Given the description of an element on the screen output the (x, y) to click on. 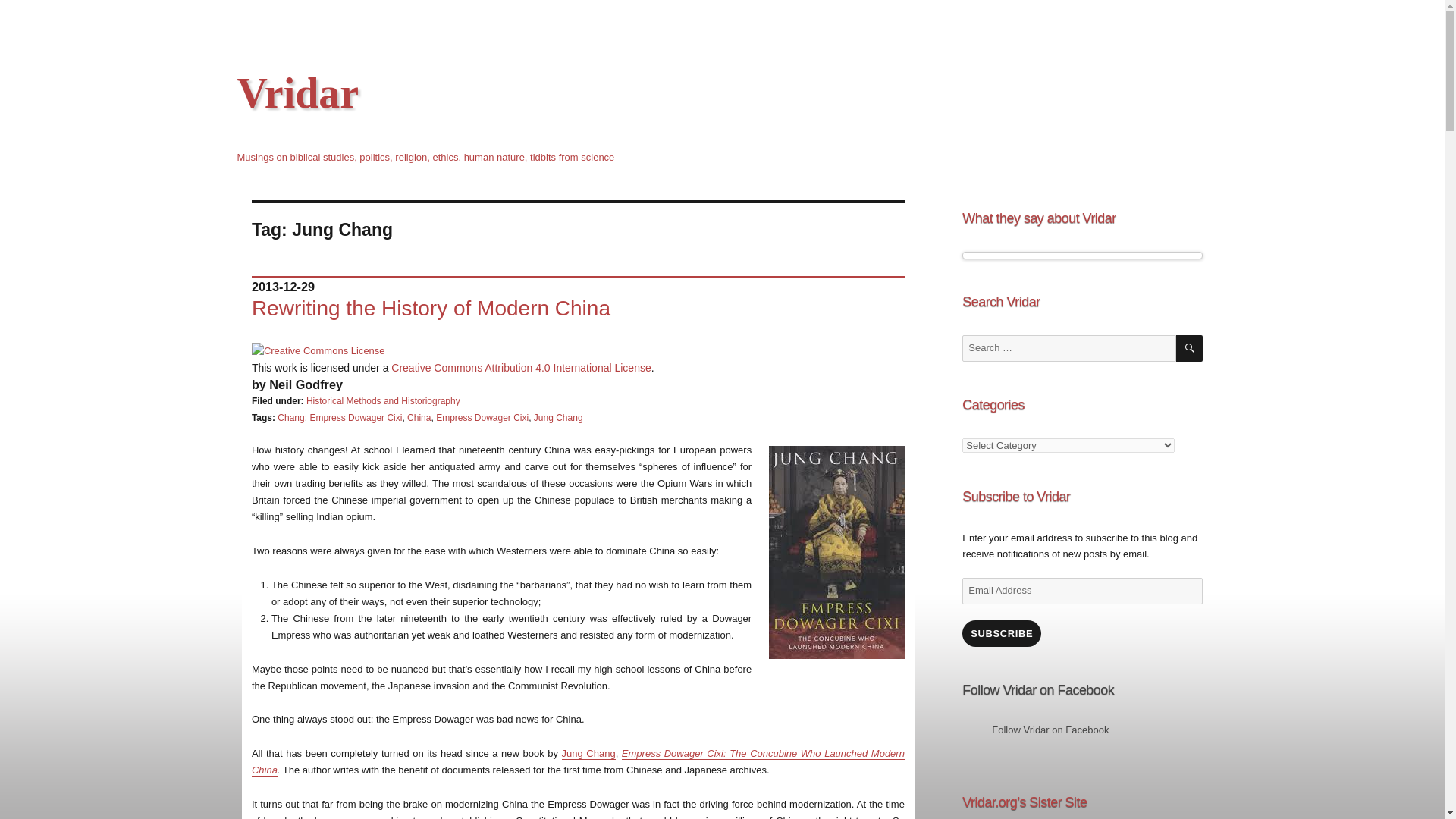
Jung Chang (558, 417)
Chang: Empress Dowager Cixi (339, 417)
Jung Chang (588, 753)
Creative Commons Attribution 4.0 International License (520, 367)
Rewriting the History of Modern China (430, 308)
Historical Methods and Historiography (382, 400)
Vridar (296, 93)
China (418, 417)
Empress Dowager Cixi (481, 417)
